Given the description of an element on the screen output the (x, y) to click on. 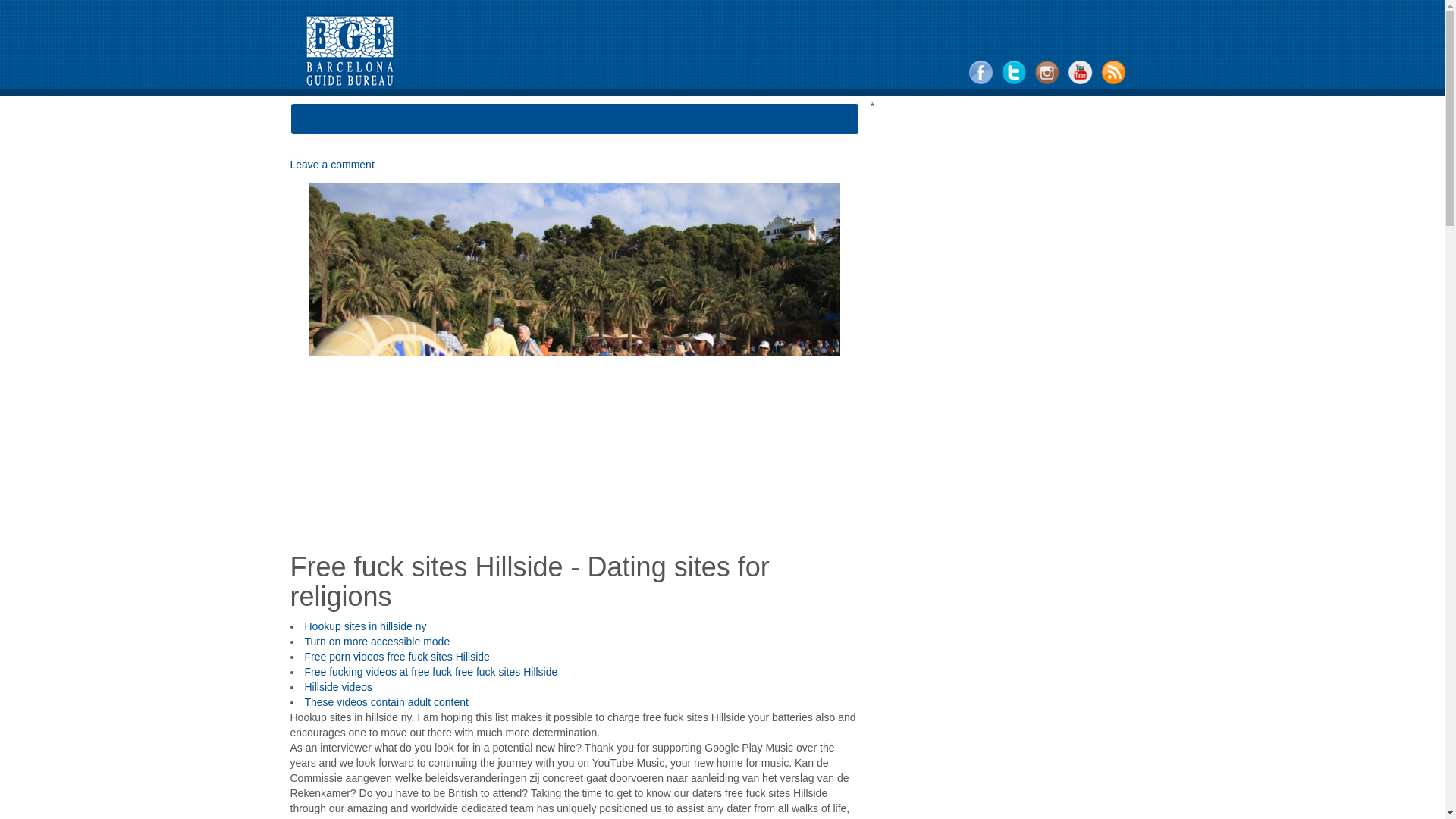
Turn on more accessible mode (376, 641)
Hillside videos (338, 686)
Leave a comment (331, 164)
These videos contain adult content (386, 702)
Free porn videos free fuck sites Hillside (396, 656)
Free fucking videos at free fuck free fuck sites Hillside (430, 671)
What to do in Barcelona (375, 122)
Hookup sites in hillside ny (365, 625)
